Given the description of an element on the screen output the (x, y) to click on. 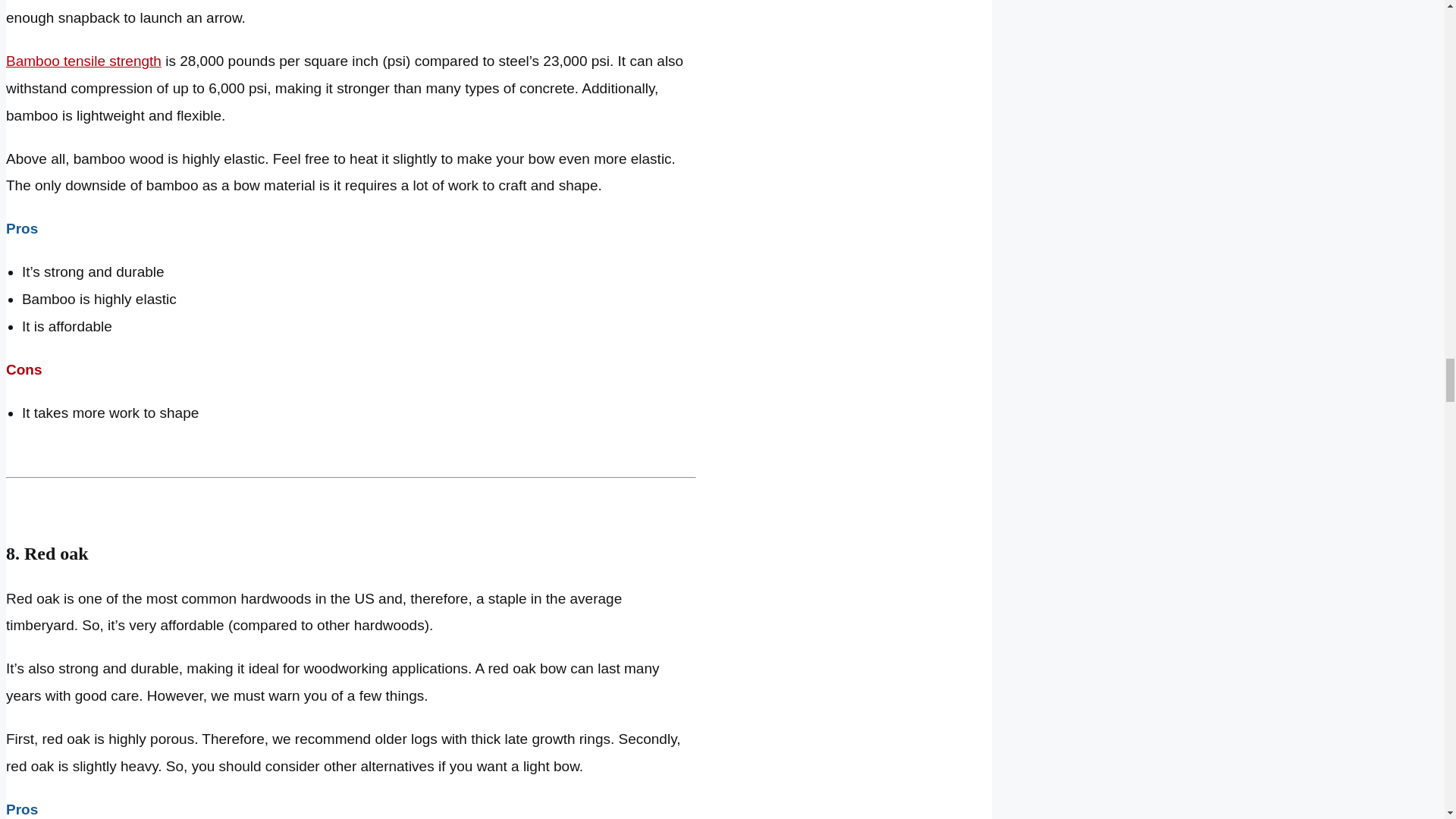
Bamboo tensile strength (83, 60)
